Given the description of an element on the screen output the (x, y) to click on. 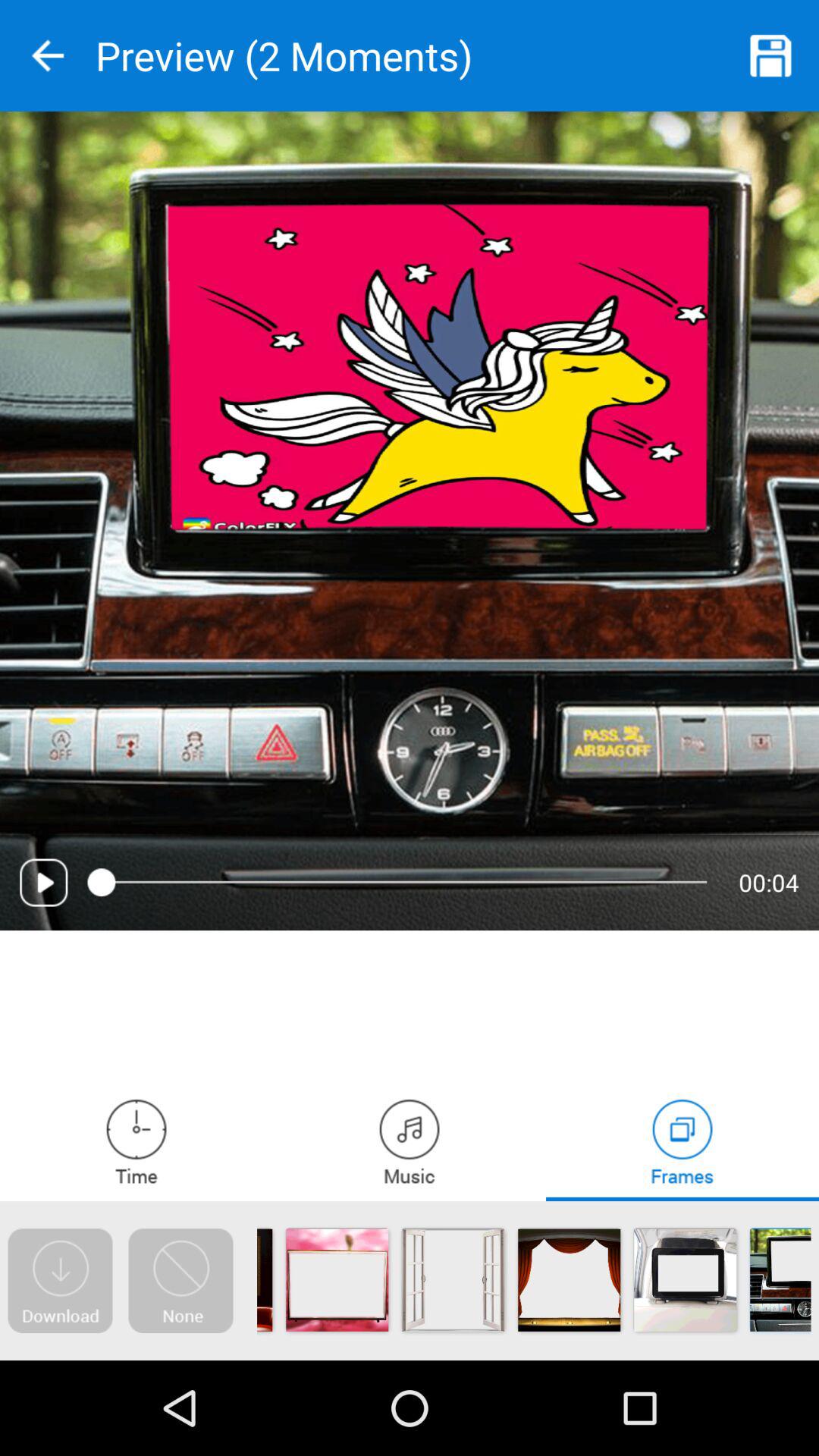
download new frames (59, 1280)
